Given the description of an element on the screen output the (x, y) to click on. 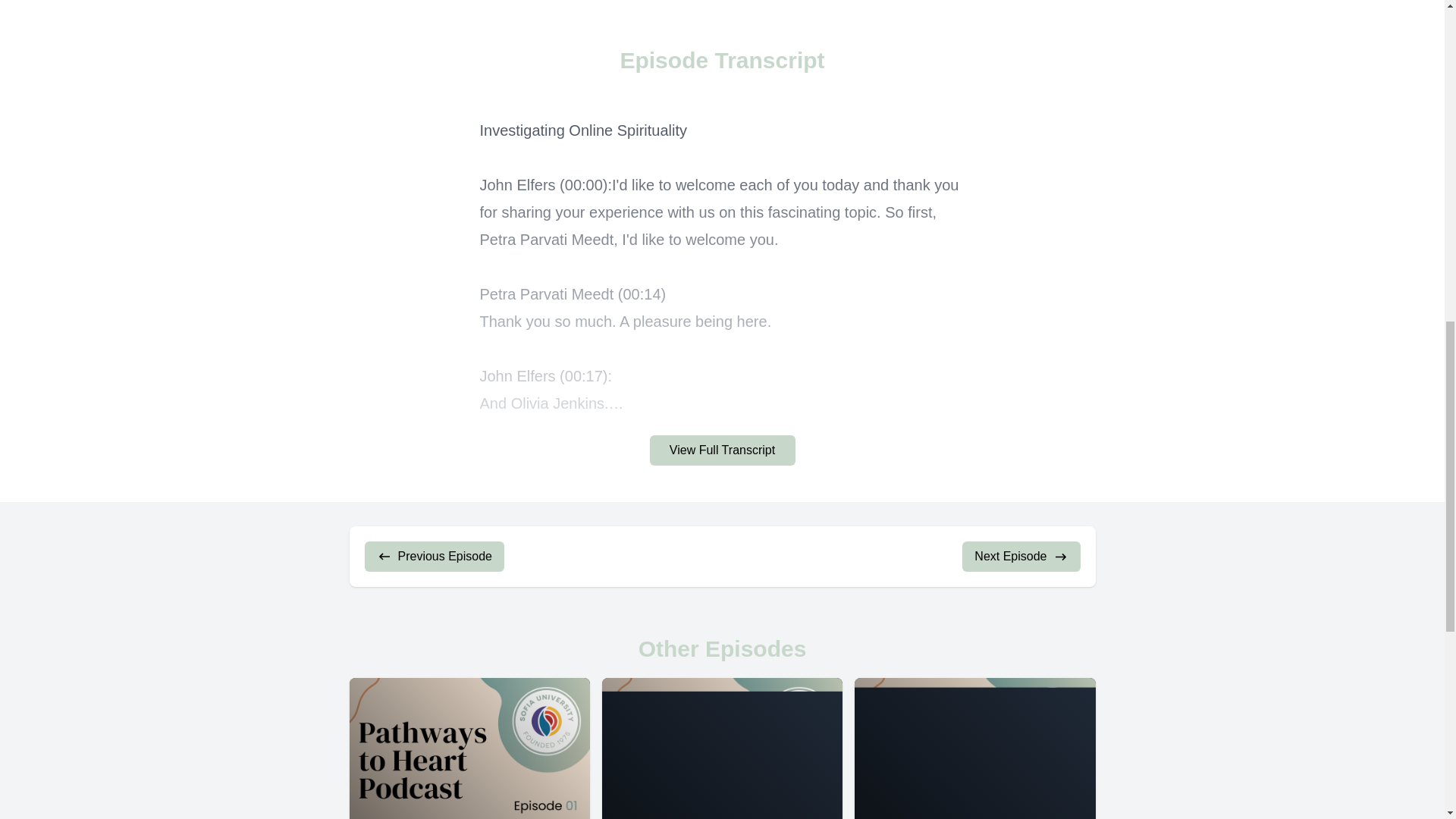
Next Episode (1021, 556)
Previous Episode (433, 556)
